Given the description of an element on the screen output the (x, y) to click on. 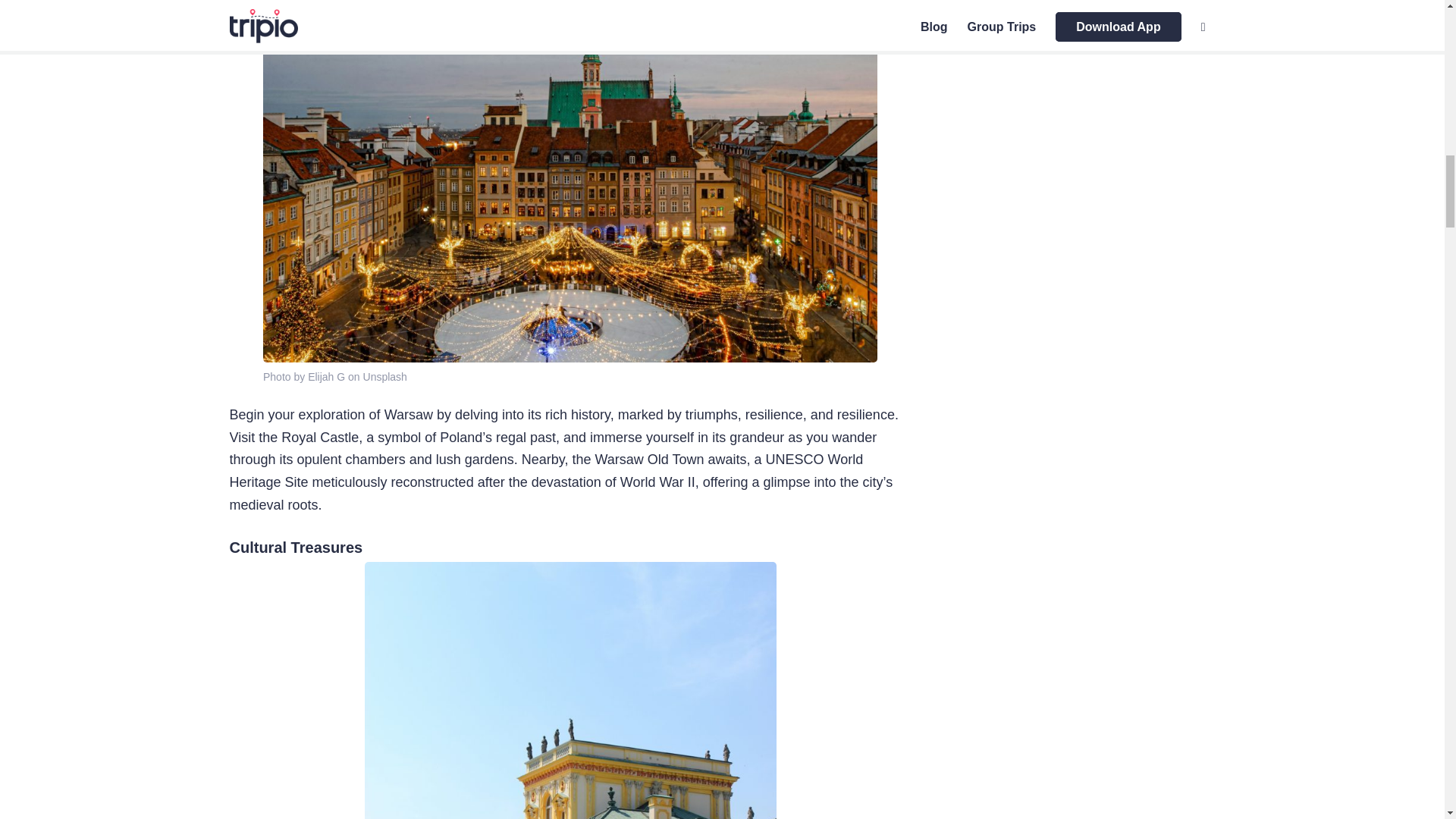
Cultural Treasures (295, 547)
Unraveling History (296, 5)
